Given the description of an element on the screen output the (x, y) to click on. 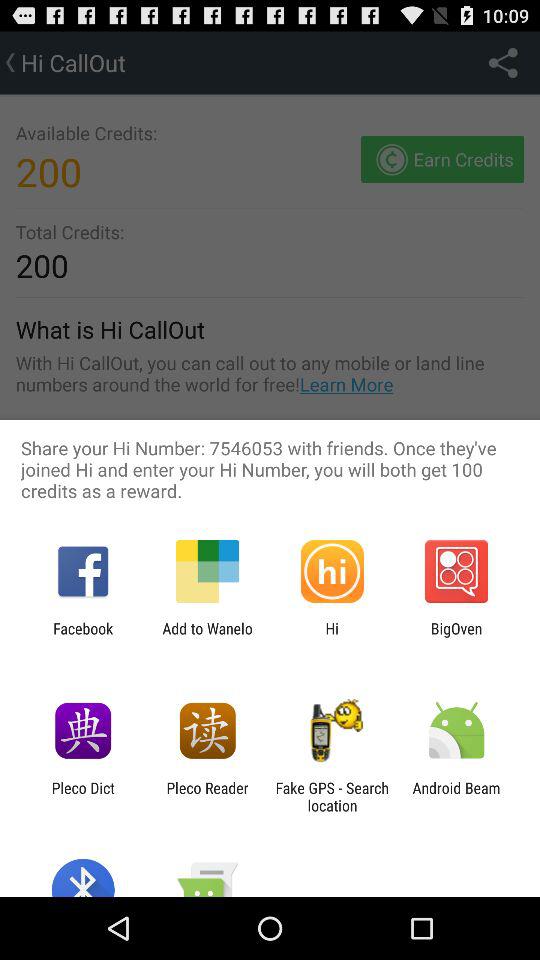
turn on the item next to the fake gps search app (456, 796)
